Given the description of an element on the screen output the (x, y) to click on. 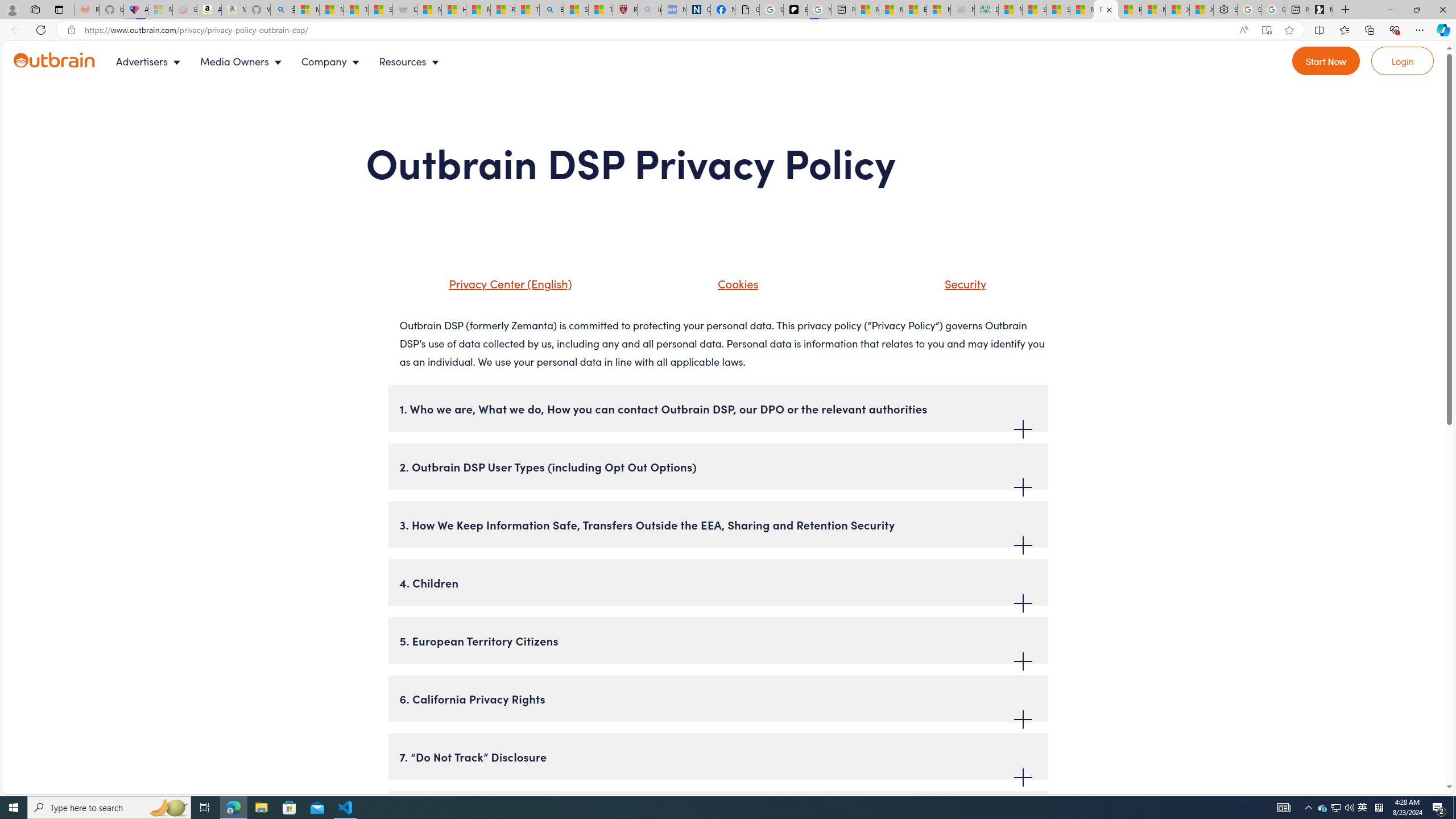
Asthma Inhalers: Names and Types (135, 9)
Outbrain logo - link to homepage (67, 61)
Stocks - MSN (1057, 9)
Enter Immersive Reader (F9) (1266, 29)
R******* | Trusted Community Engagement and Contributions (1129, 9)
